Given the description of an element on the screen output the (x, y) to click on. 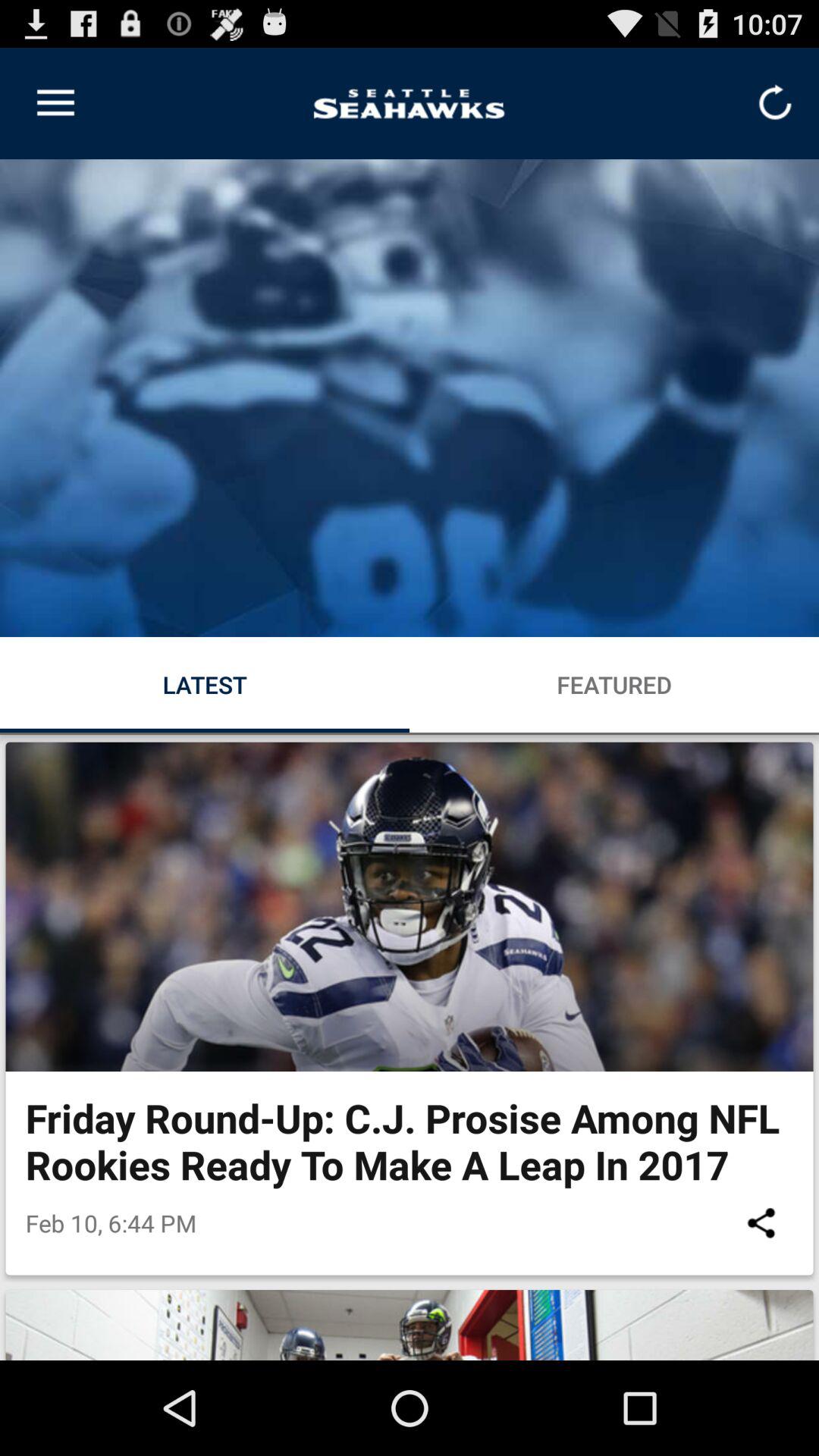
turn on the item to the right of the feb 10 6 item (761, 1222)
